Given the description of an element on the screen output the (x, y) to click on. 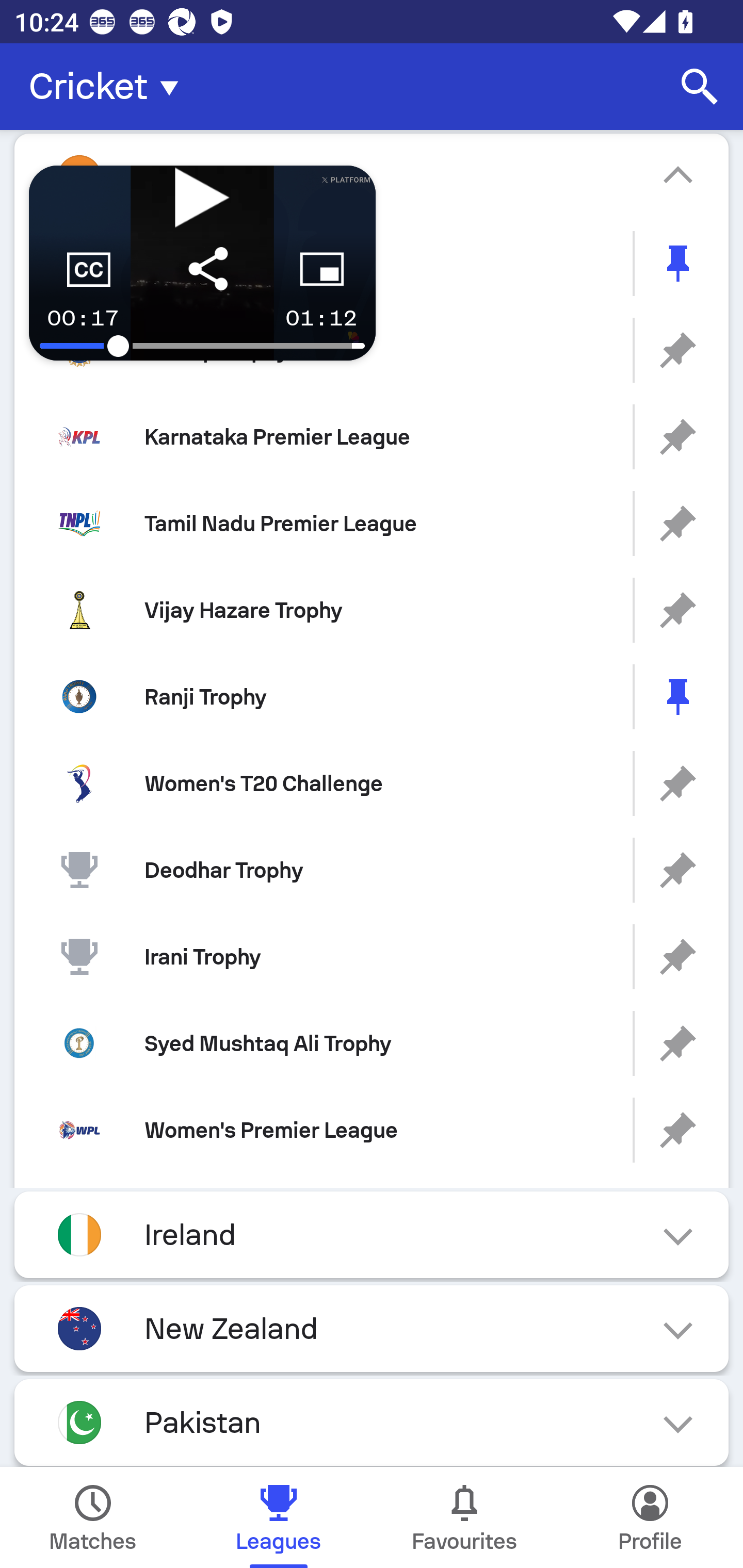
Cricket (109, 86)
Search (699, 86)
Karnataka Premier League (371, 436)
Tamil Nadu Premier League (371, 523)
Vijay Hazare Trophy (371, 610)
Ranji Trophy (371, 696)
Women's T20 Challenge (371, 783)
Deodhar Trophy (371, 870)
Irani Trophy (371, 957)
Syed Mushtaq Ali Trophy (371, 1043)
Women's Premier League (371, 1129)
Ireland (371, 1234)
New Zealand (371, 1328)
Pakistan (371, 1422)
Matches (92, 1517)
Favourites (464, 1517)
Profile (650, 1517)
